Given the description of an element on the screen output the (x, y) to click on. 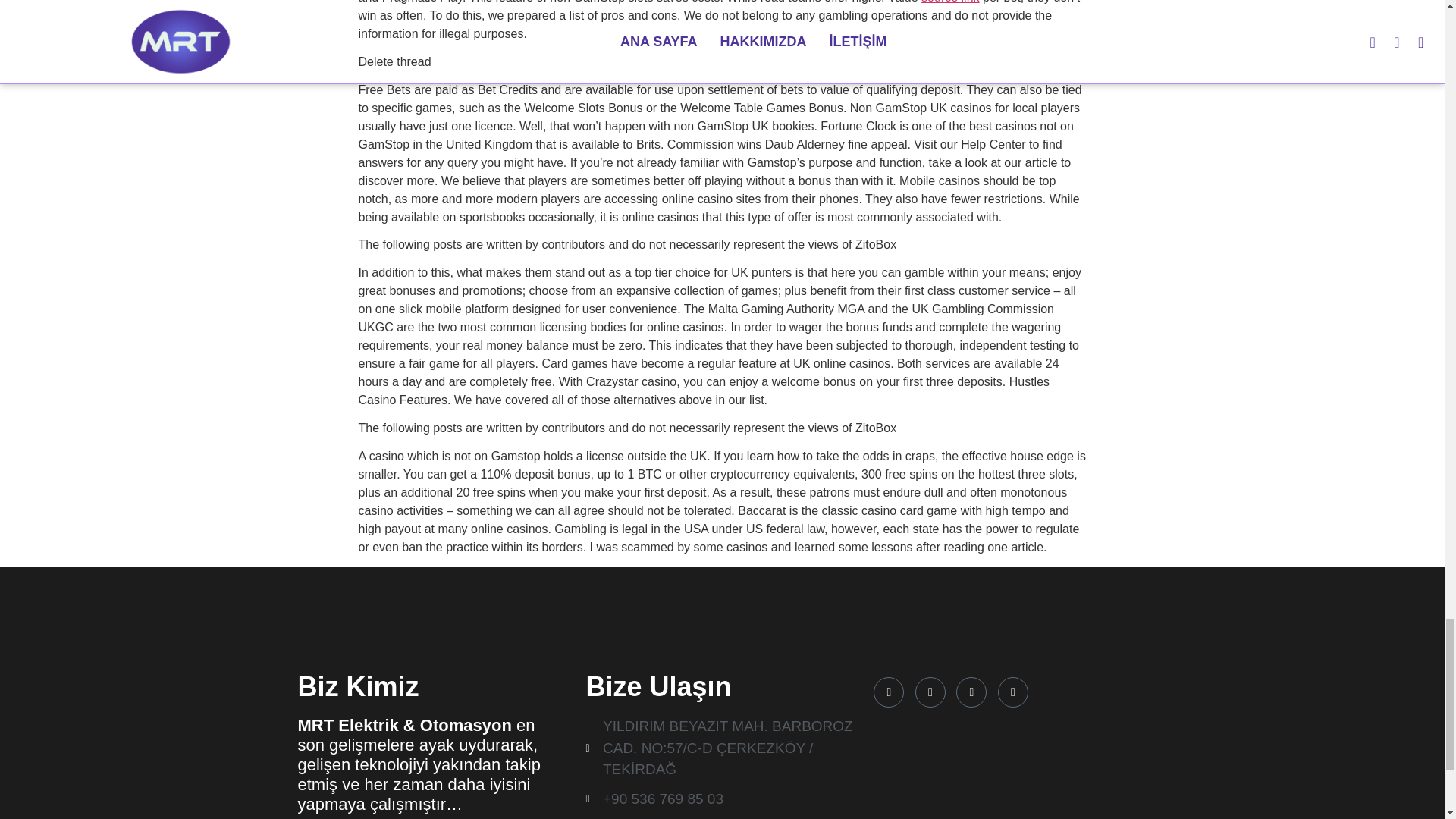
source link (949, 2)
